Given the description of an element on the screen output the (x, y) to click on. 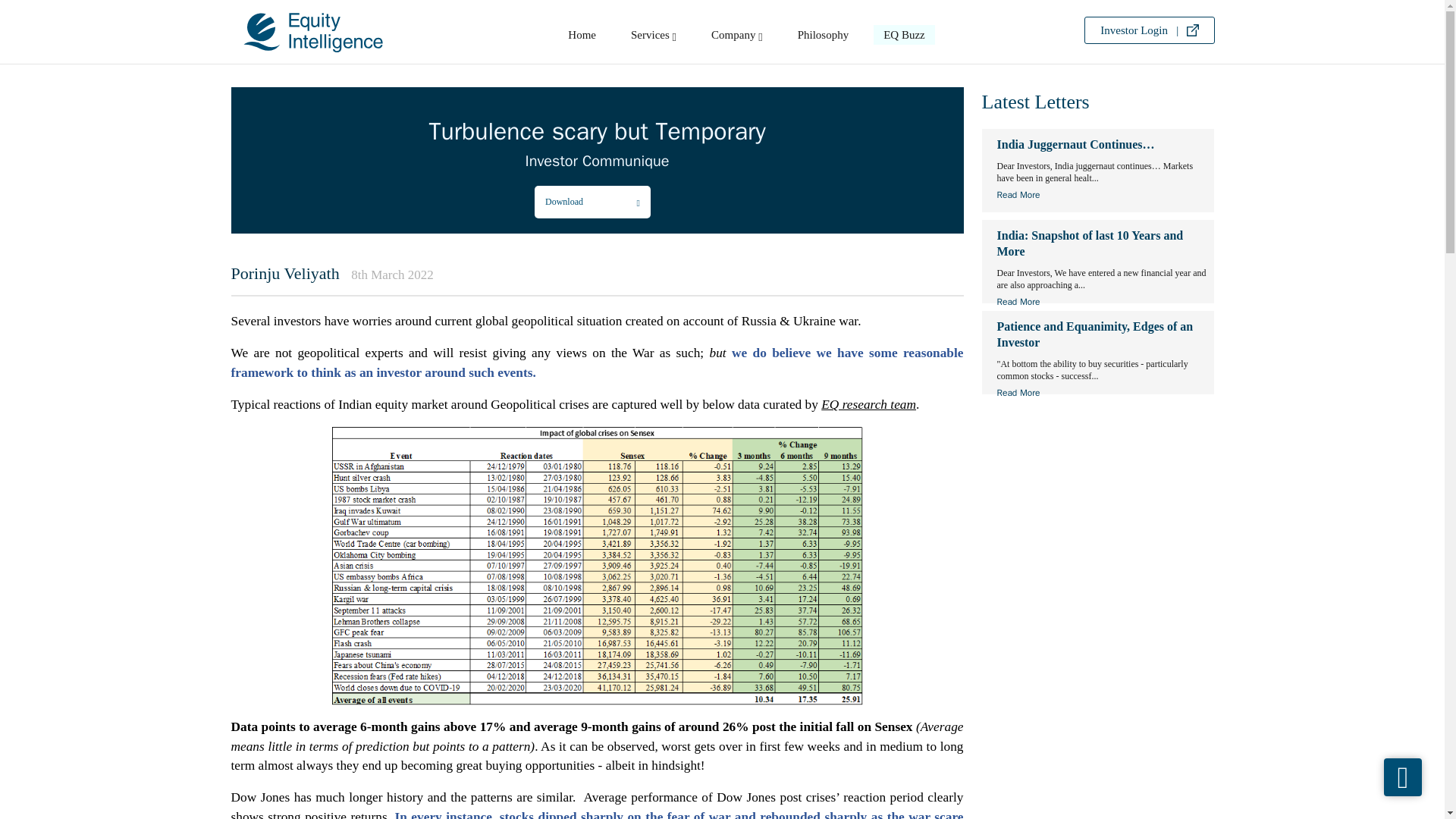
Philosophy (823, 37)
Patience and Equanimity, Edges of an Investor (1100, 337)
Read More (1100, 392)
Services (653, 37)
Home (581, 37)
Company (737, 37)
EQ Buzz (904, 37)
Read More (1100, 301)
India: Snapshot of last 10 Years and More (1100, 246)
